Given the description of an element on the screen output the (x, y) to click on. 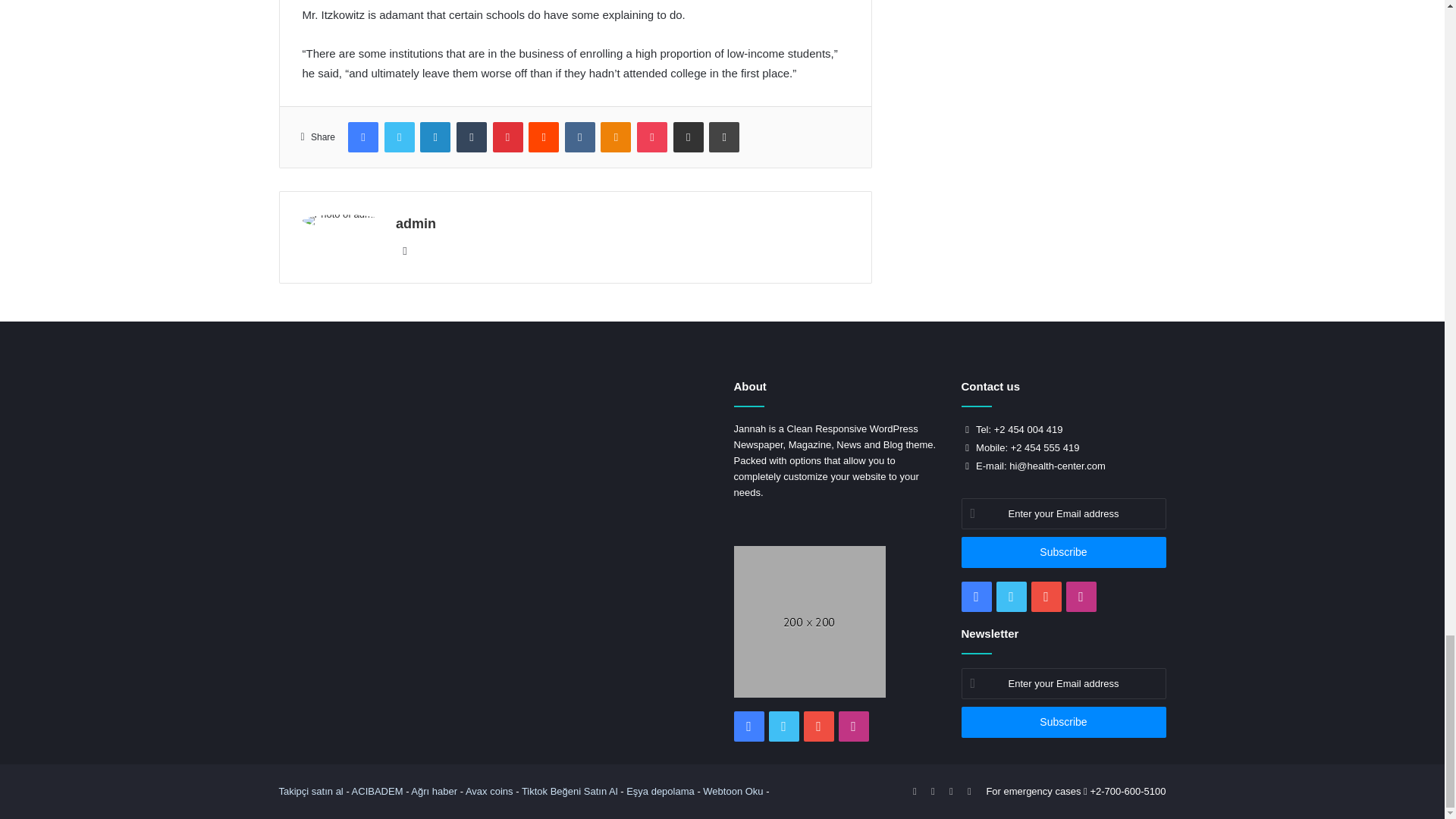
Subscribe (1063, 721)
Subscribe (1063, 552)
